Given the description of an element on the screen output the (x, y) to click on. 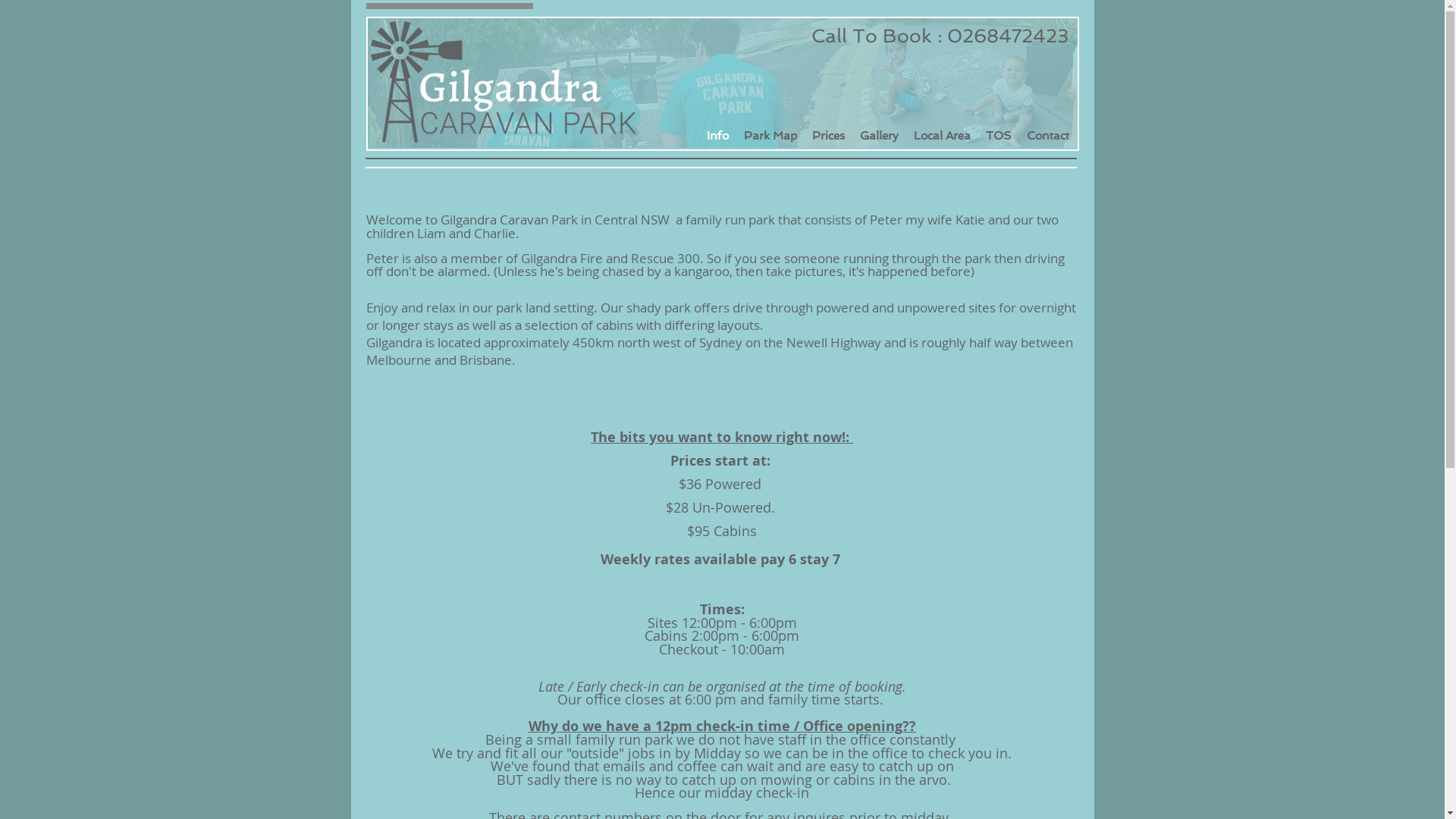
TOS Element type: text (998, 135)
Info Element type: text (717, 135)
Local Area Element type: text (941, 135)
Contact Element type: text (1047, 135)
Prices Element type: text (827, 135)
Gallery Element type: text (879, 135)
Park Map Element type: text (769, 135)
